Given the description of an element on the screen output the (x, y) to click on. 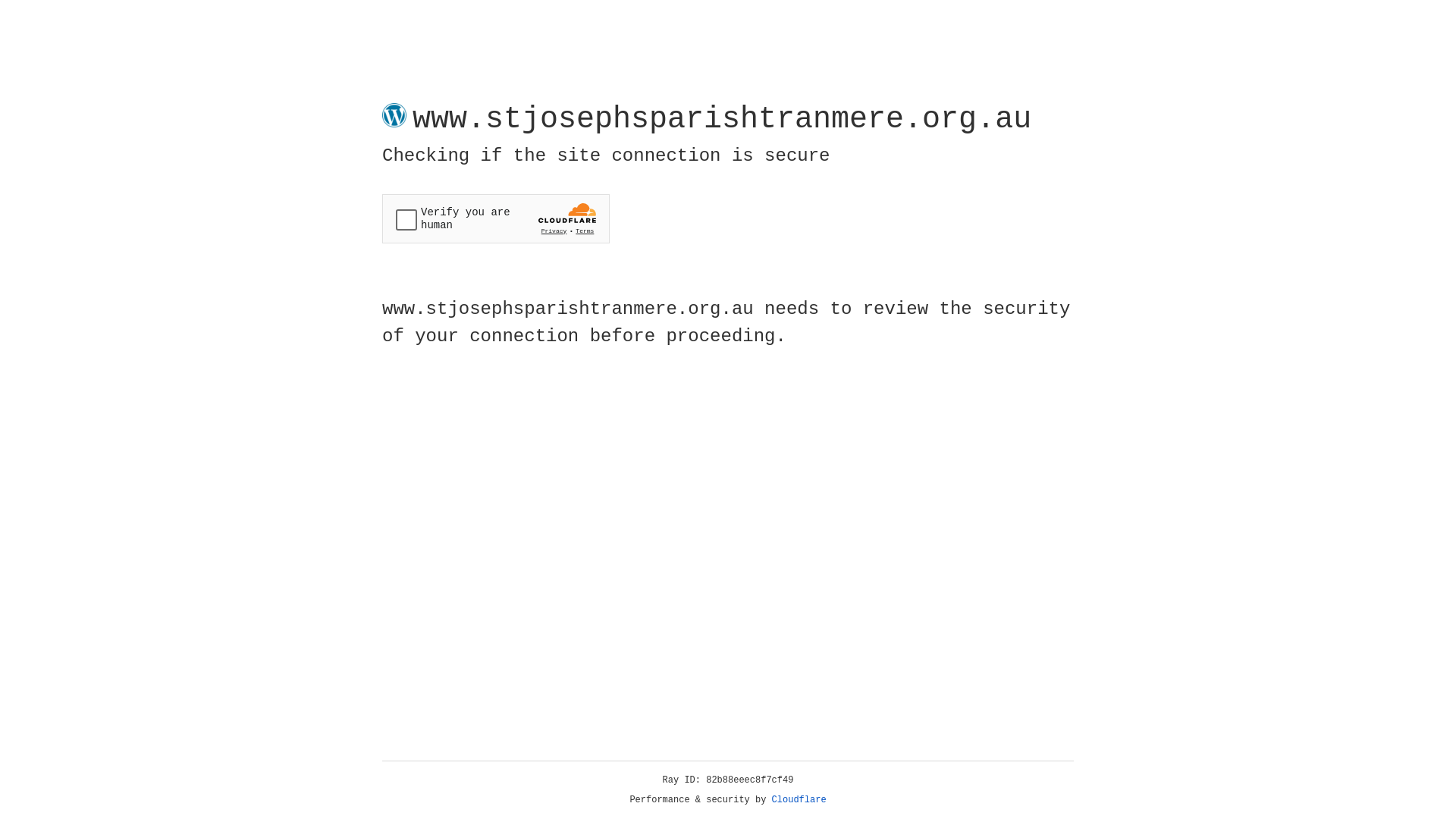
Cloudflare Element type: text (798, 799)
Widget containing a Cloudflare security challenge Element type: hover (495, 218)
